Given the description of an element on the screen output the (x, y) to click on. 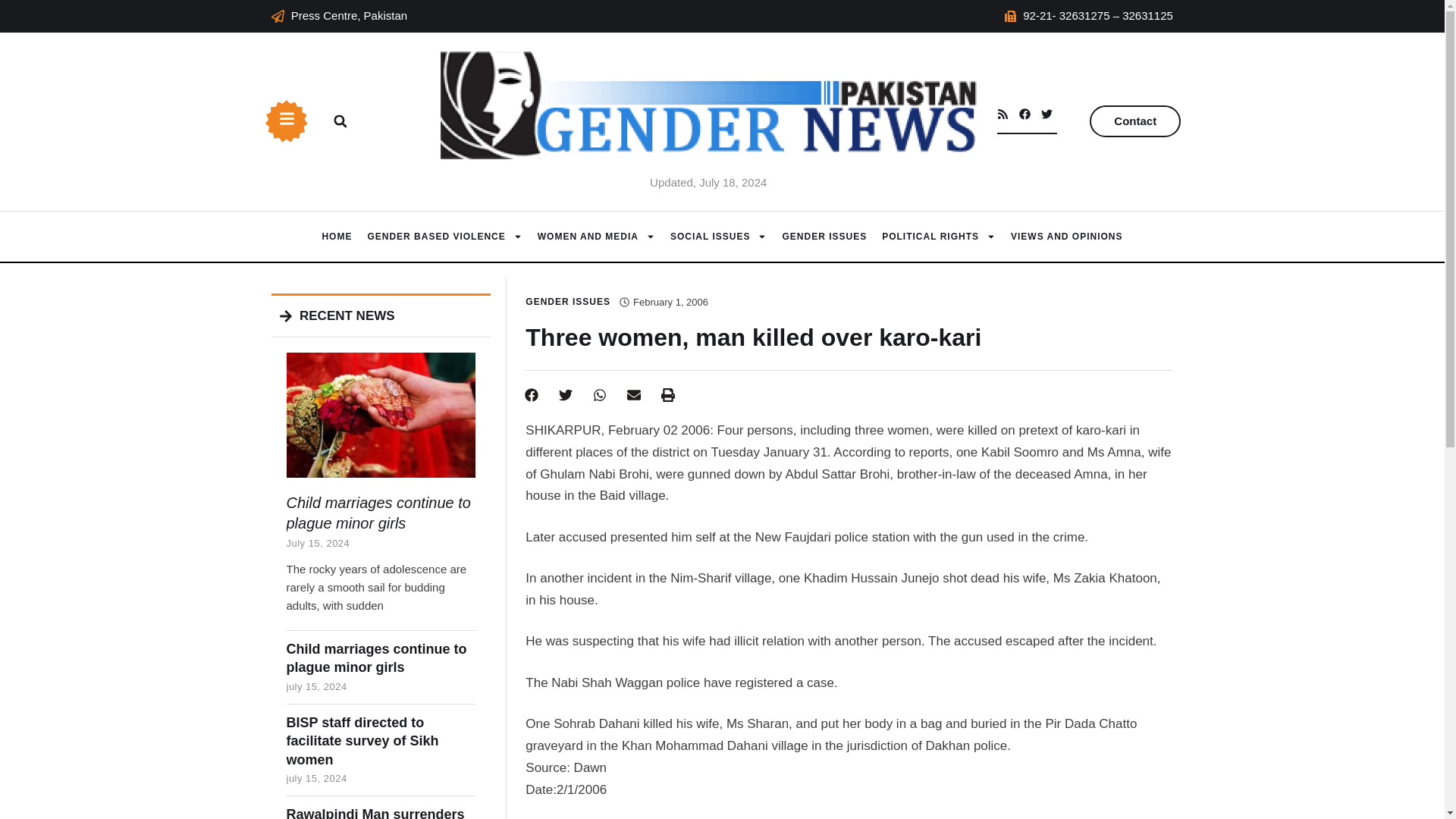
GENDER BASED VIOLENCE (444, 236)
HOME (336, 236)
WOMEN AND MEDIA (595, 236)
Pakistan Gender News (336, 236)
Gender Based Violence (444, 236)
Views and Opinions (1067, 236)
Contact (1134, 120)
Political Rights (939, 236)
Social Issues (718, 236)
VIEWS AND OPINIONS (1067, 236)
POLITICAL RIGHTS (939, 236)
Gender Issues (824, 236)
SOCIAL ISSUES (718, 236)
GENDER ISSUES (824, 236)
Women and Media (595, 236)
